Given the description of an element on the screen output the (x, y) to click on. 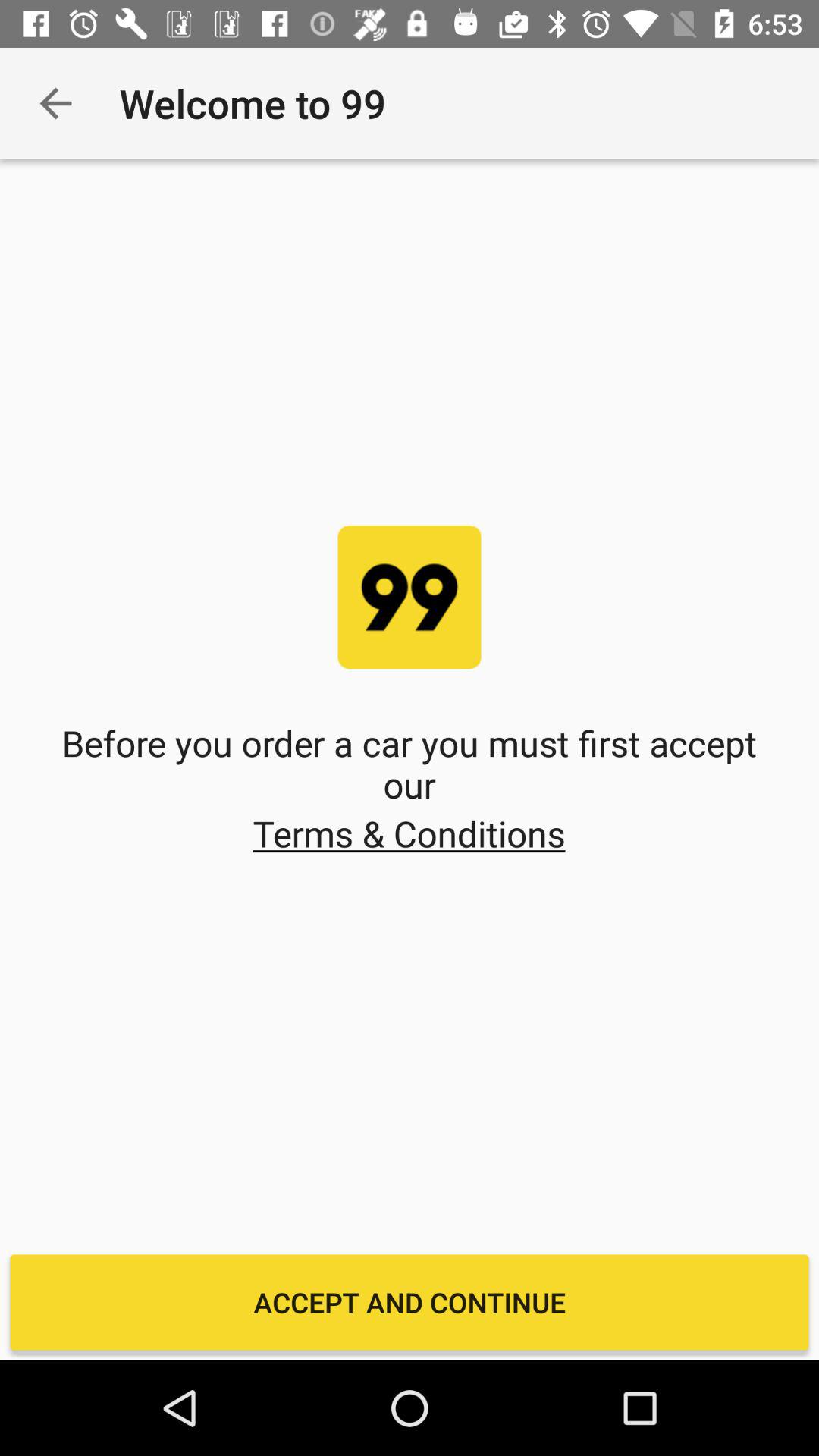
tap app next to the welcome to 99 item (55, 103)
